Given the description of an element on the screen output the (x, y) to click on. 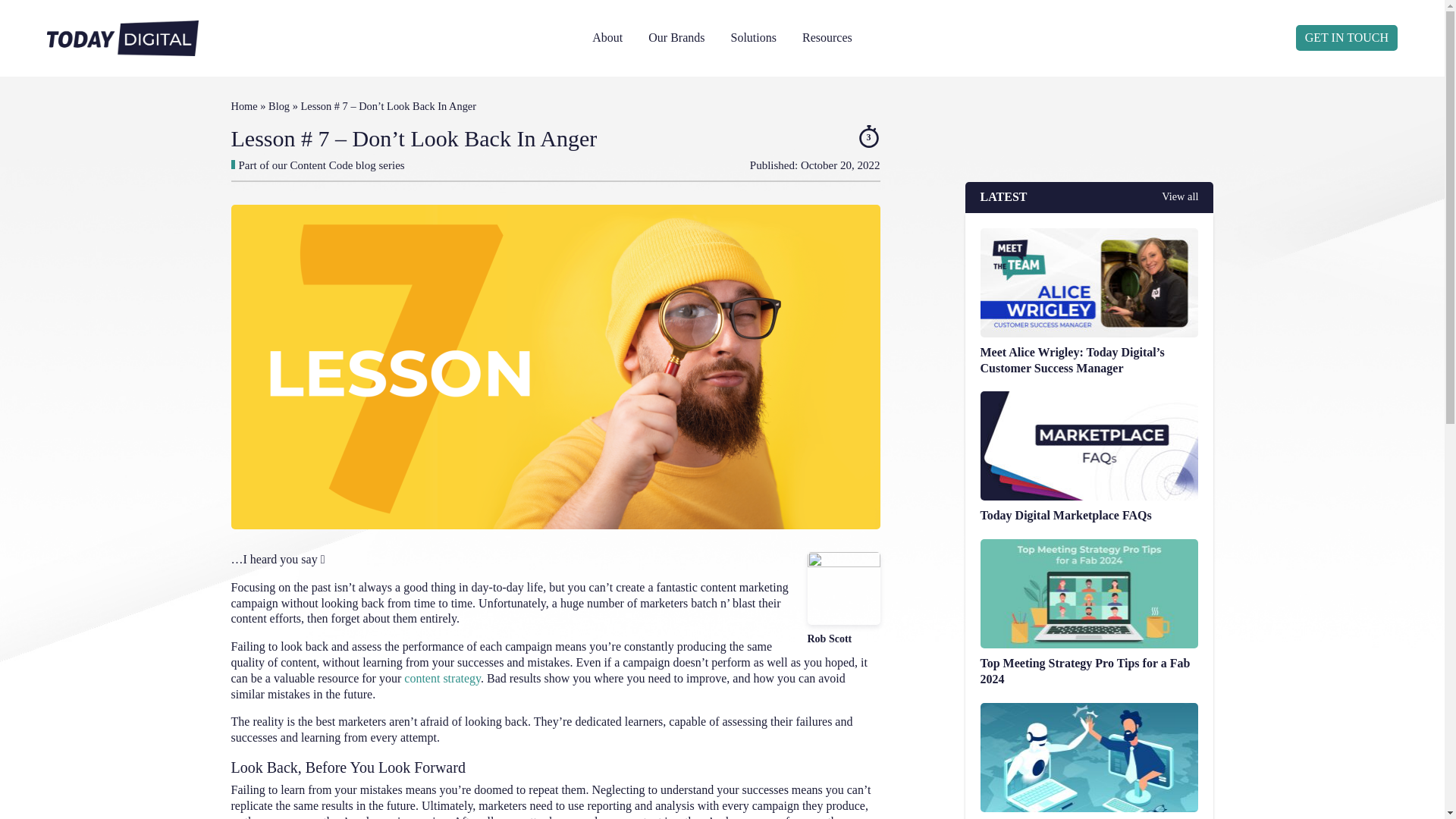
content strategy (442, 677)
Top Meeting Strategy Pro Tips for a Fab 2024 (1088, 636)
GET IN TOUCH (1346, 37)
Bridging the Human-Machine Divide in Journalism (1088, 784)
Today Digital Marketplace FAQs (1088, 481)
Home (243, 105)
Our Brands (676, 38)
Blog (278, 105)
View all (1179, 197)
Resources (826, 38)
